Given the description of an element on the screen output the (x, y) to click on. 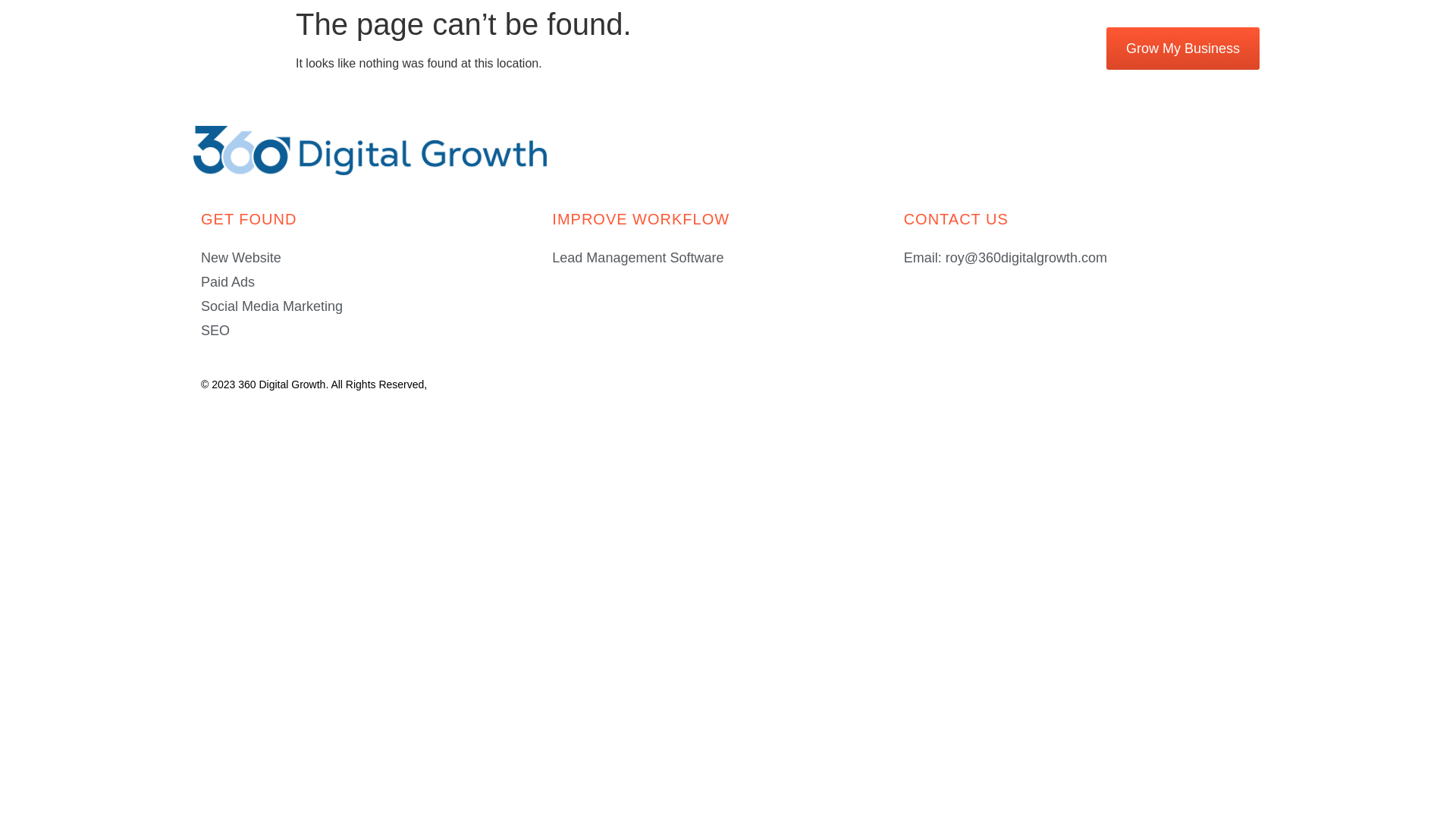
Paid Ads Element type: text (376, 282)
Our Services Element type: text (640, 49)
Social Media Marketing Element type: text (376, 306)
SEO Element type: text (376, 330)
Grow My Business Element type: text (1182, 48)
Lead Management Software Element type: text (727, 257)
New Website Element type: text (376, 257)
Email: roy@360digitalgrowth.com Element type: text (1079, 257)
(800) 344-6516 Element type: text (1008, 48)
